Given the description of an element on the screen output the (x, y) to click on. 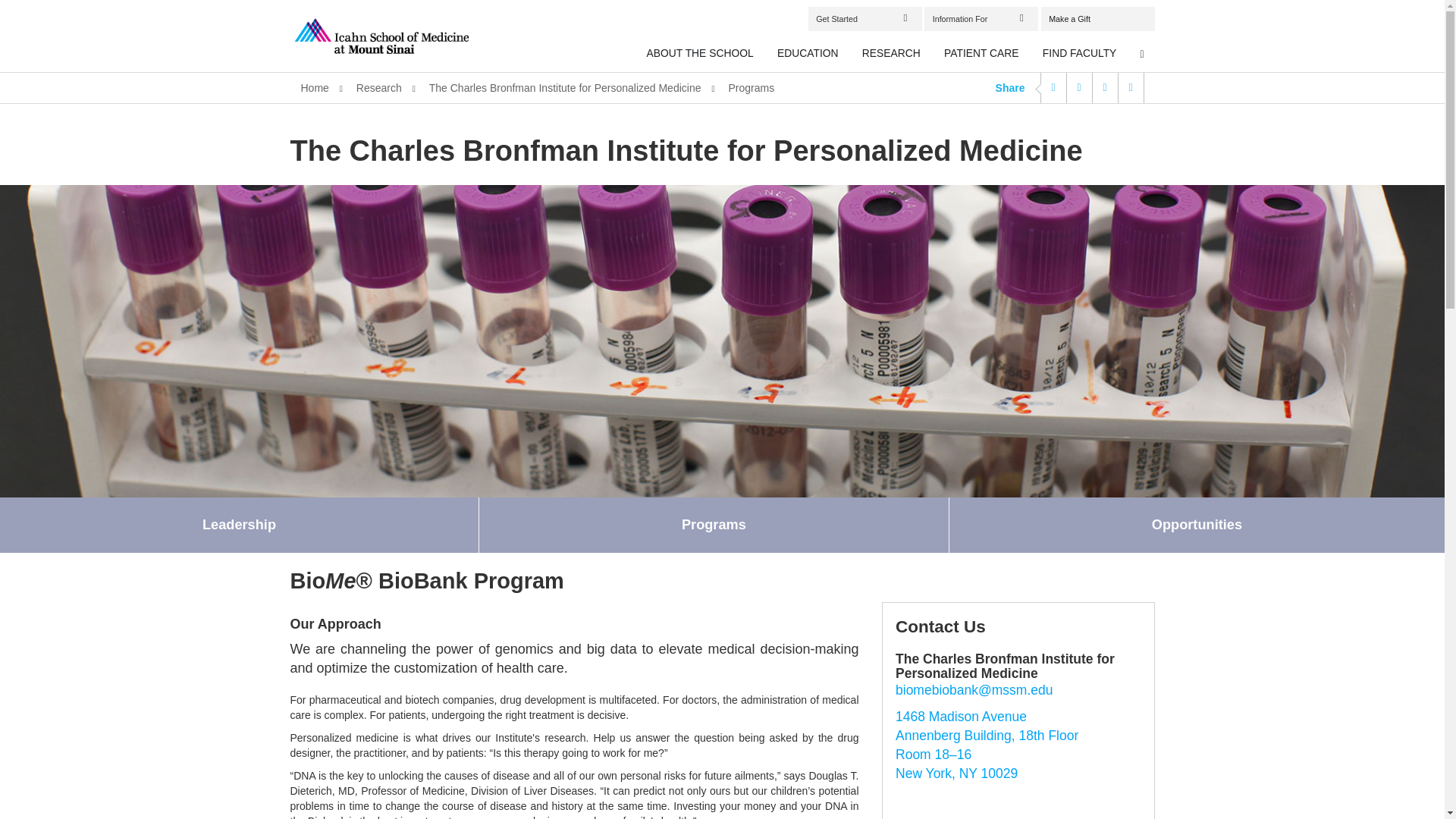
ABOUT THE SCHOOL (700, 54)
Information For (981, 18)
Get Started (864, 18)
Make a Gift (1097, 18)
